Given the description of an element on the screen output the (x, y) to click on. 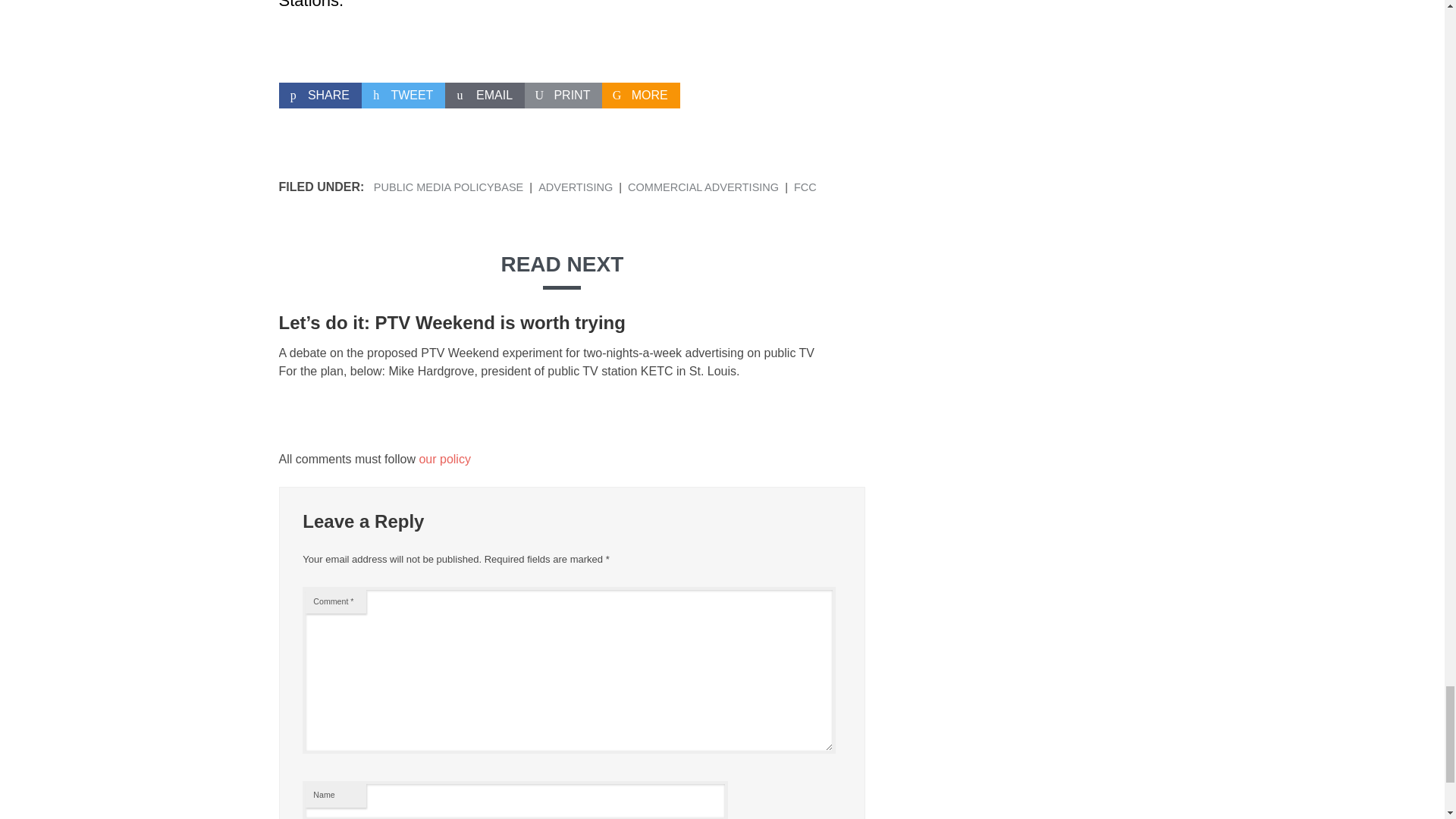
Read Posts in the Public Media Policybase category (448, 186)
Read:  (452, 322)
Read Posts tagged with: FCC (804, 186)
Print this article (563, 95)
Read Posts tagged with: Commercial advertising (702, 186)
Read Posts tagged with: Advertising (575, 186)
